Given the description of an element on the screen output the (x, y) to click on. 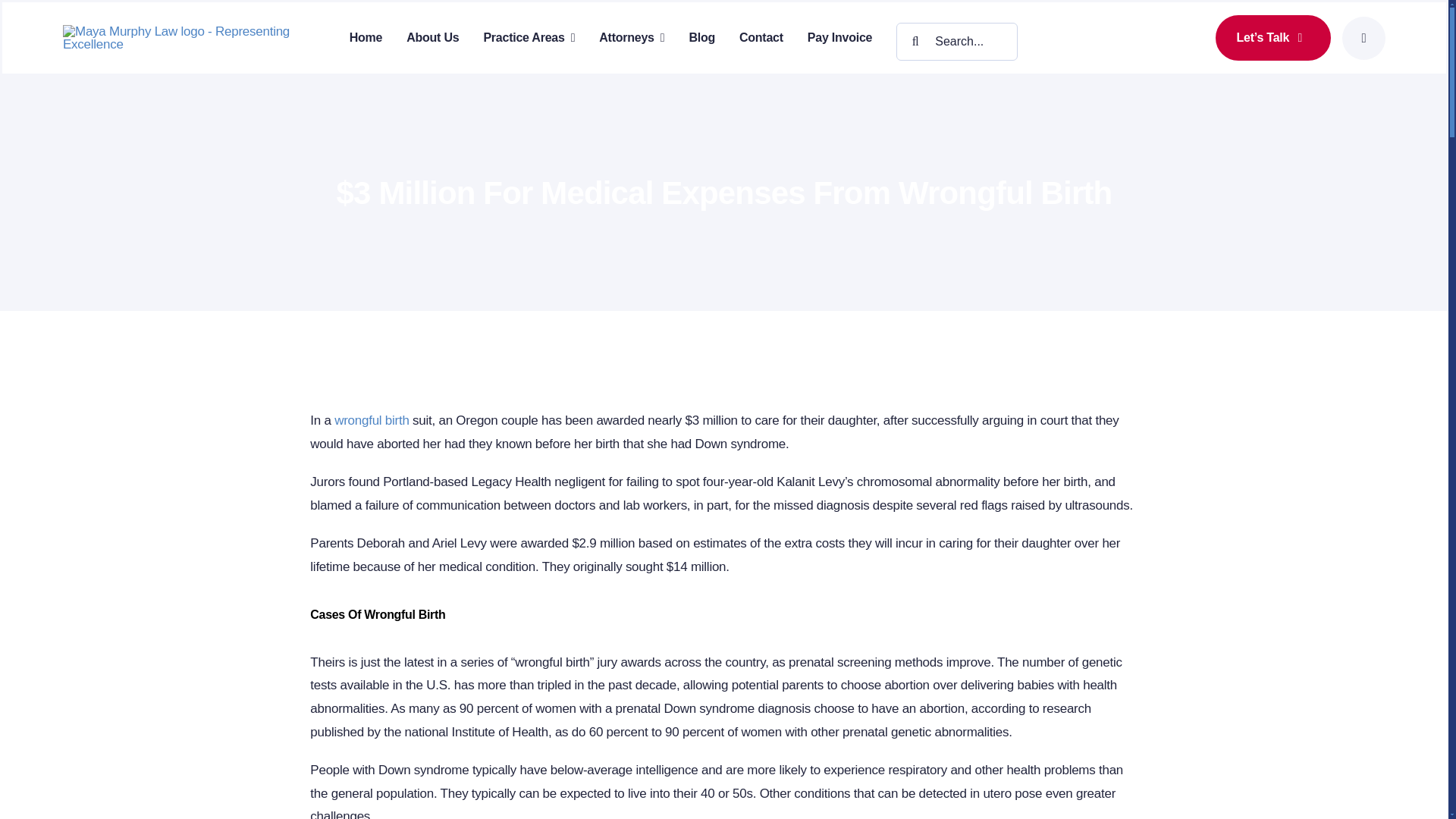
Home (365, 37)
About Us (432, 37)
Practice Areas (529, 37)
Attorneys (630, 37)
